Given the description of an element on the screen output the (x, y) to click on. 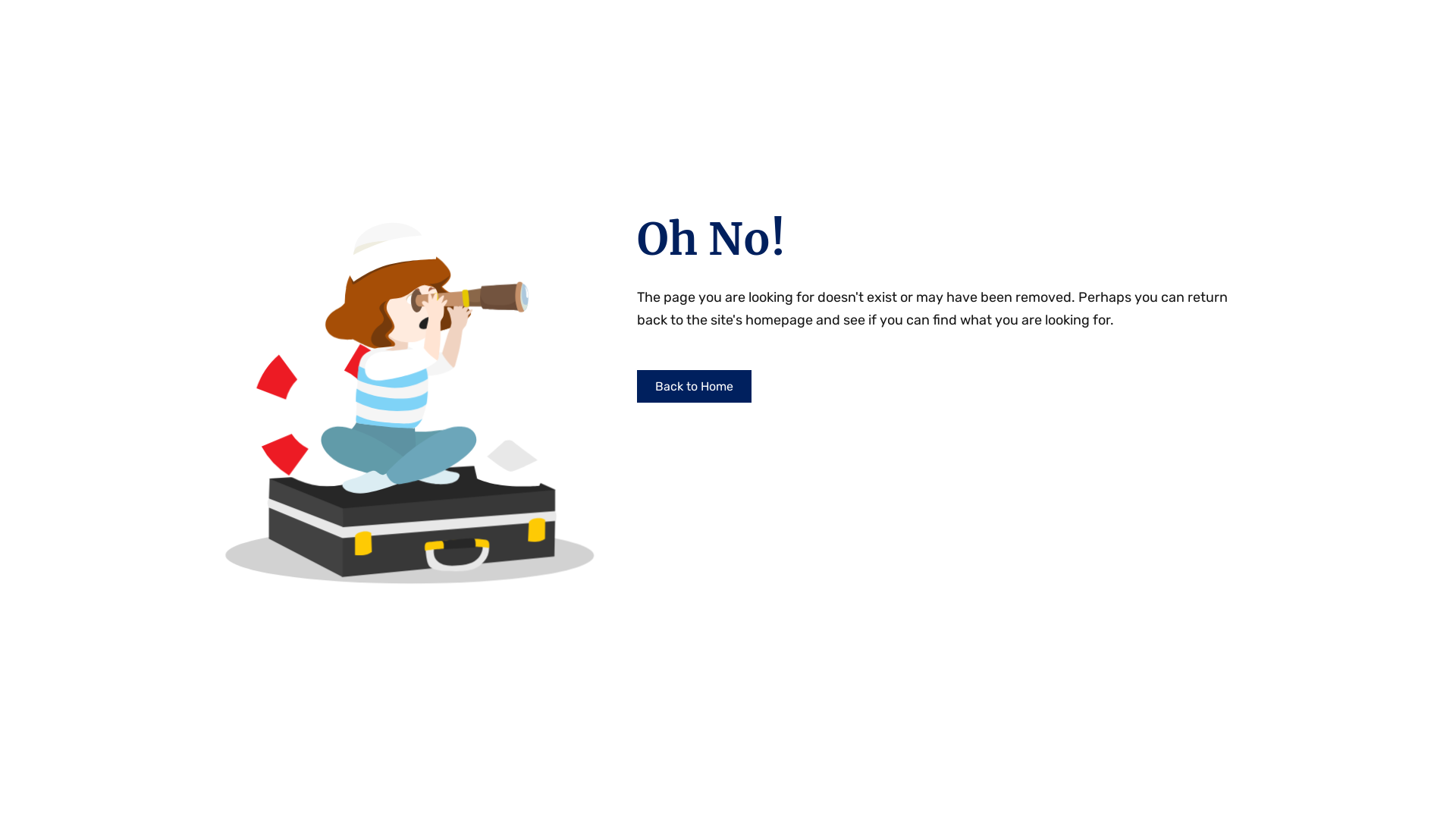
Back to Home Element type: text (694, 386)
